Given the description of an element on the screen output the (x, y) to click on. 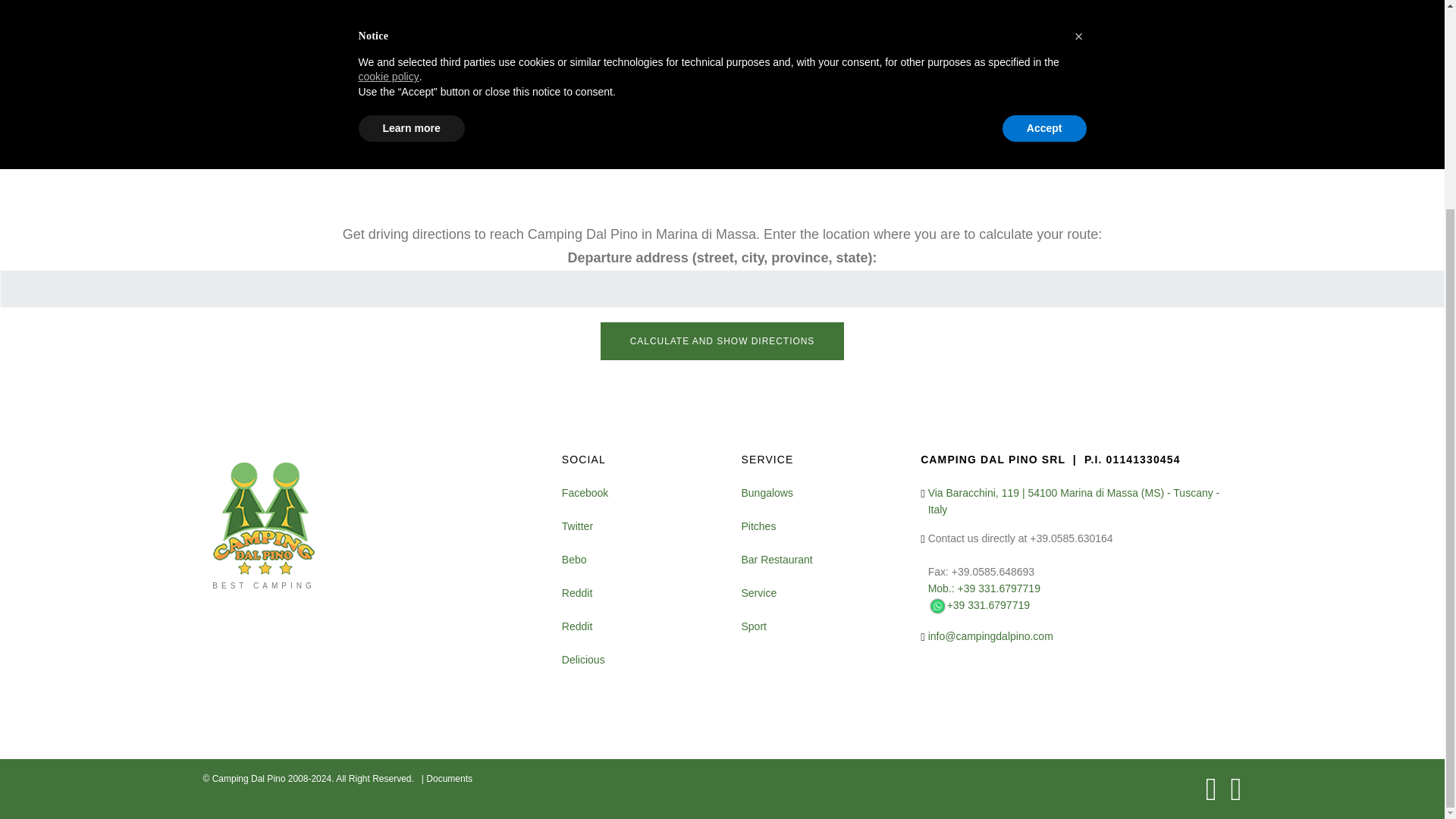
Reddit (577, 626)
Bar Restaurant (776, 559)
Service (758, 592)
Pitches (758, 525)
Reddit (577, 592)
Twitter (577, 525)
Sport (753, 626)
CALCULATE AND SHOW DIRECTIONS (721, 341)
Bebo (574, 559)
Bungalows (767, 492)
Facebook (585, 492)
Delicious (583, 659)
